Given the description of an element on the screen output the (x, y) to click on. 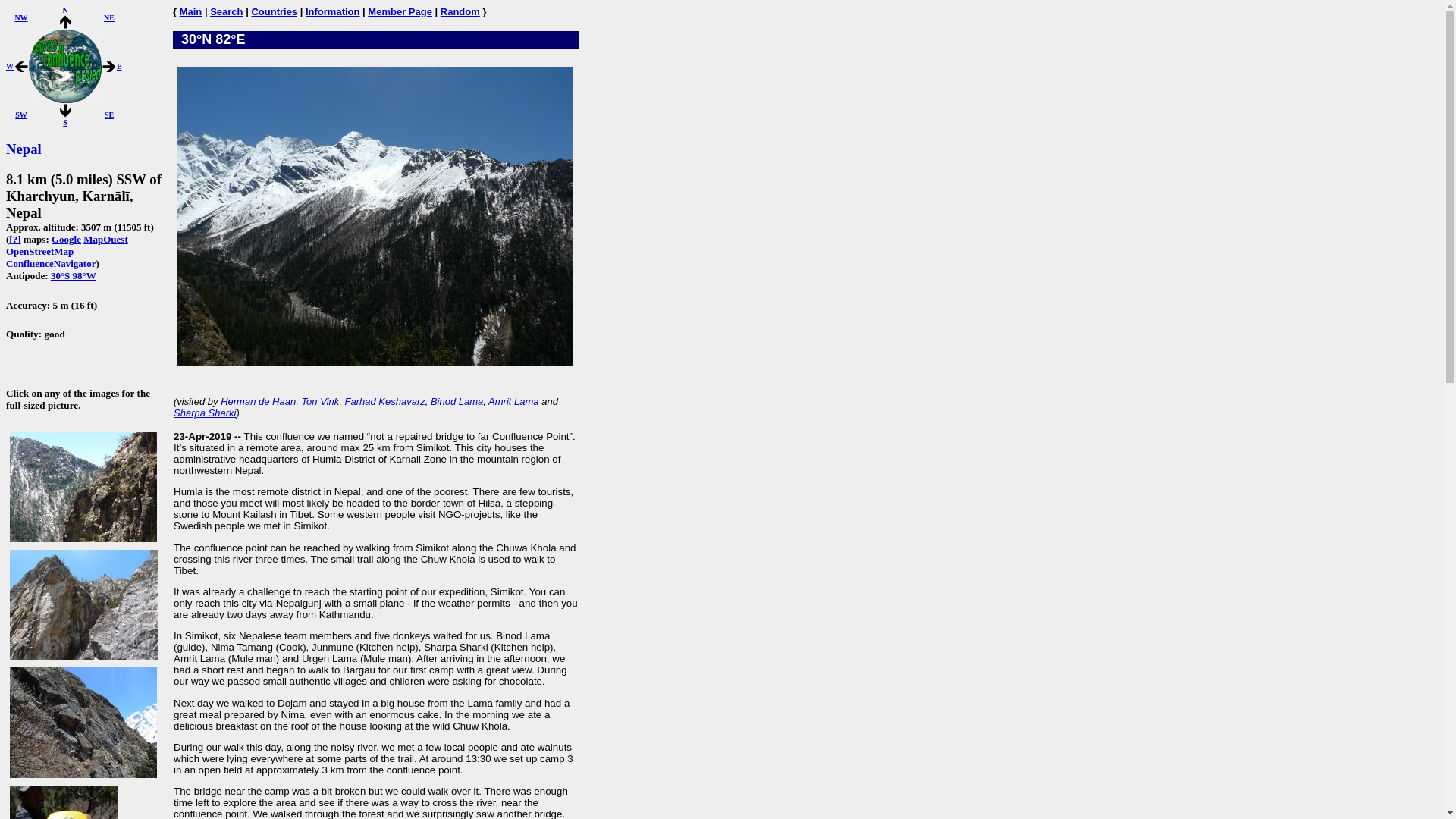
Random (460, 11)
NW (20, 17)
S (65, 110)
Herman de Haan (258, 401)
Nepal (23, 148)
SE (108, 114)
The confluence opposite this confluence on the globe (73, 275)
Sharpa Sharki (204, 412)
Binod Lama (456, 401)
Member Page (400, 11)
